Given the description of an element on the screen output the (x, y) to click on. 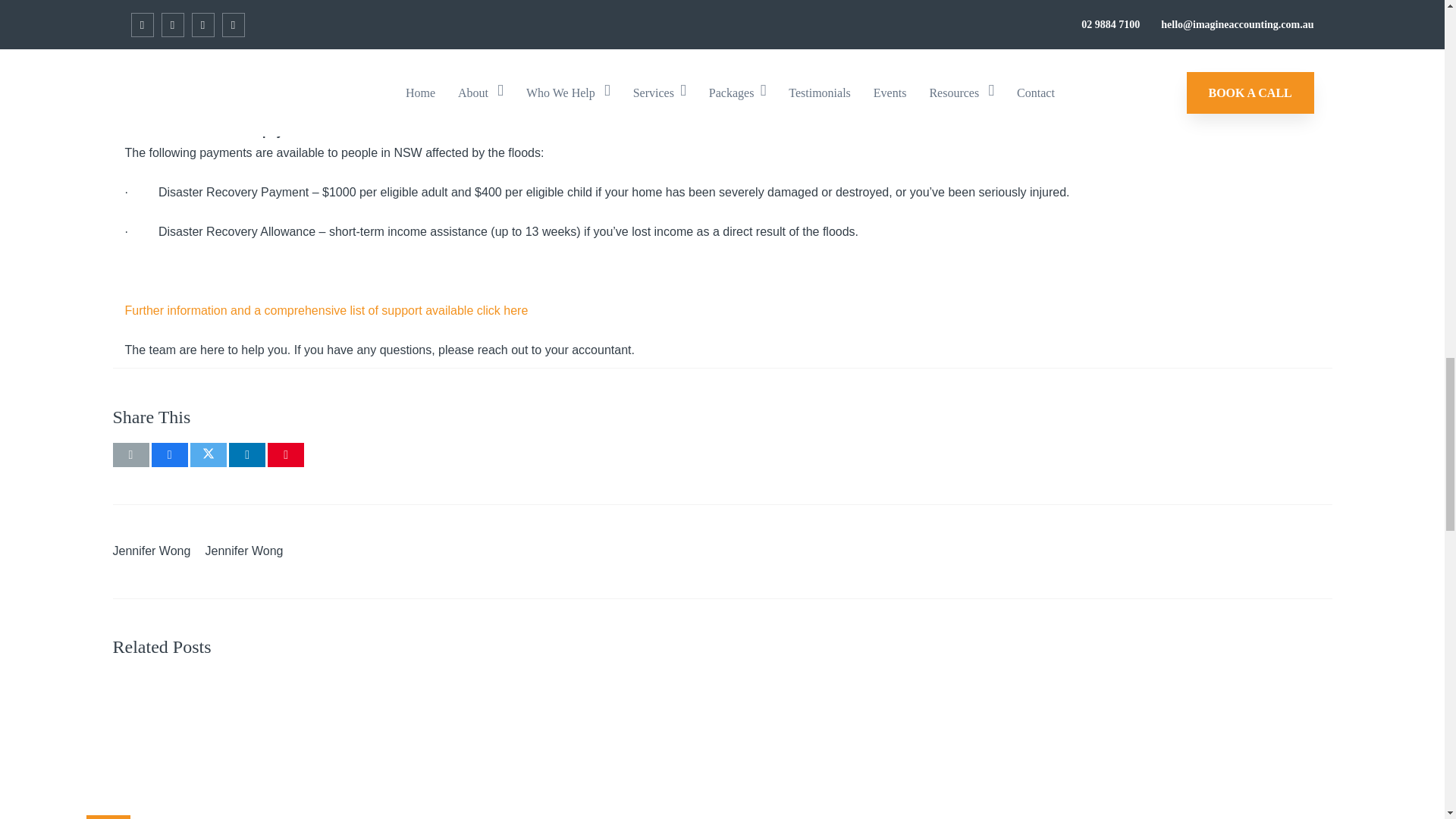
Tweet this (208, 454)
Email this (130, 454)
Share this (169, 454)
Pin this (285, 454)
Share this (246, 454)
